Given the description of an element on the screen output the (x, y) to click on. 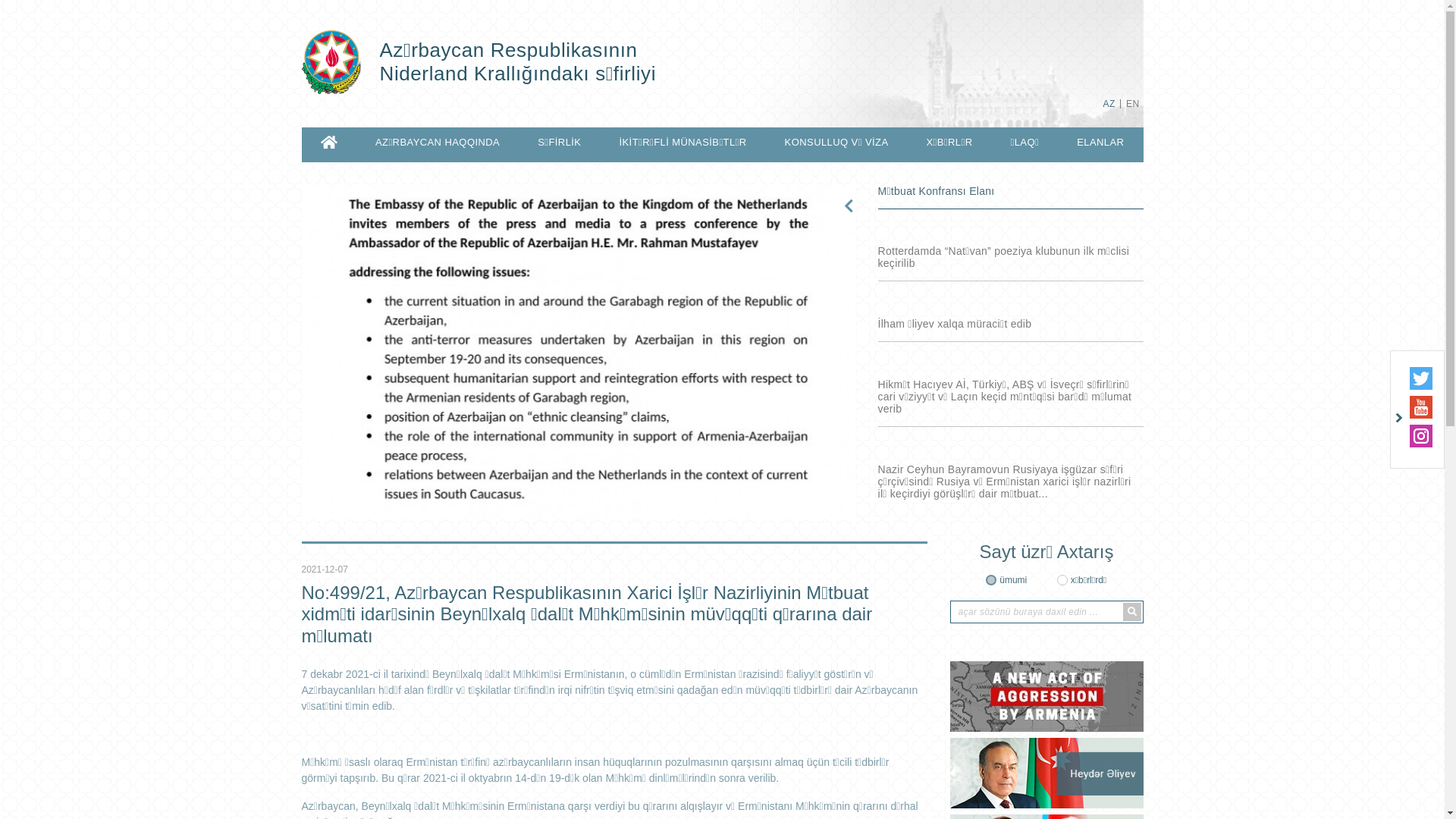
AZ Element type: text (1109, 103)
ELANLAR Element type: text (1100, 142)
EN Element type: text (1132, 103)
